Given the description of an element on the screen output the (x, y) to click on. 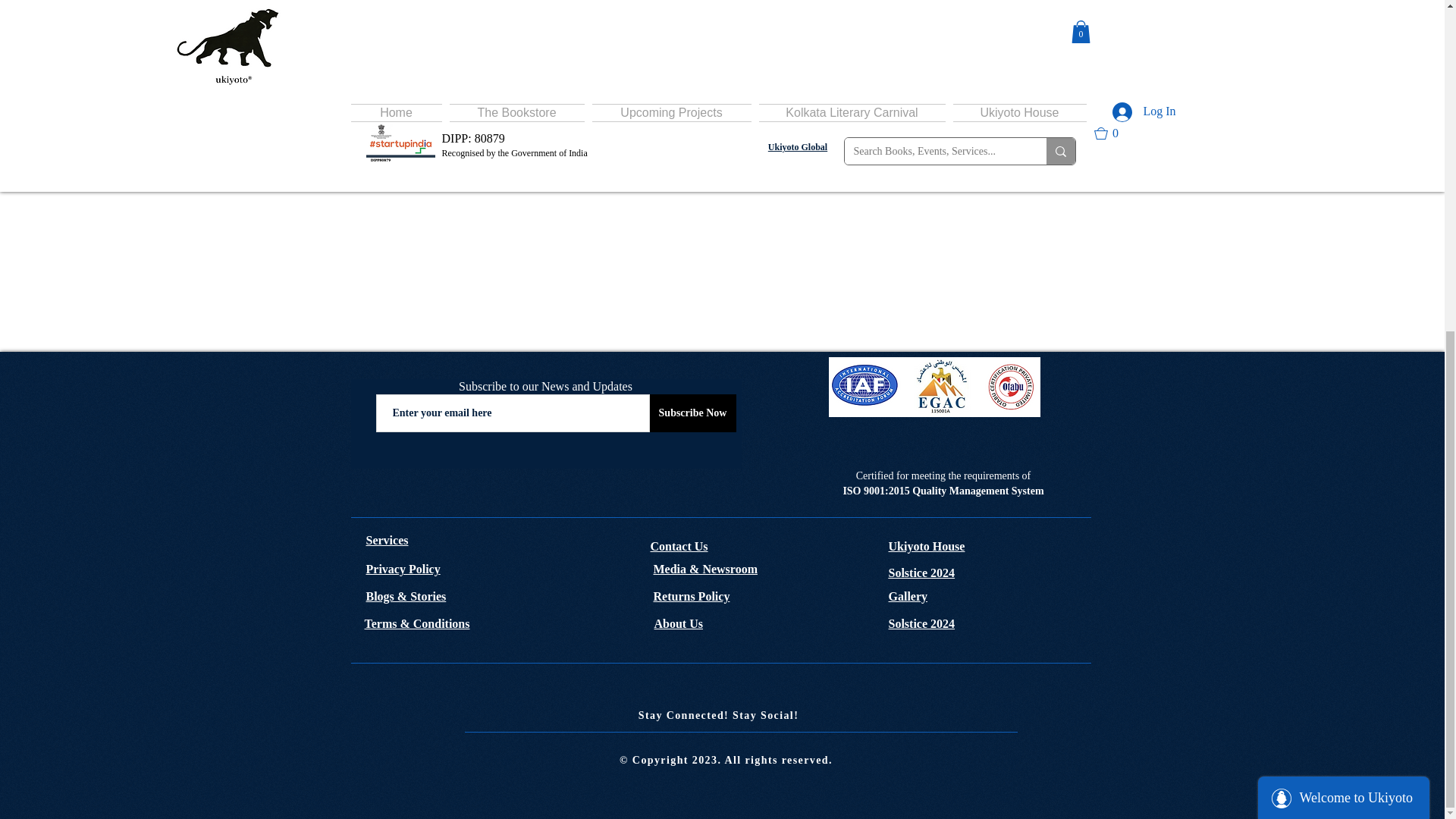
Returns Policy (691, 595)
Write a review (261, 90)
Solstice 2024 (921, 623)
Privacy Policy (402, 568)
About Us (677, 623)
Subscribe Now (692, 412)
Ukiyoto House (926, 545)
Gallery (908, 595)
Contact Us (678, 545)
Services (386, 540)
Solstice 2024 (921, 572)
